Given the description of an element on the screen output the (x, y) to click on. 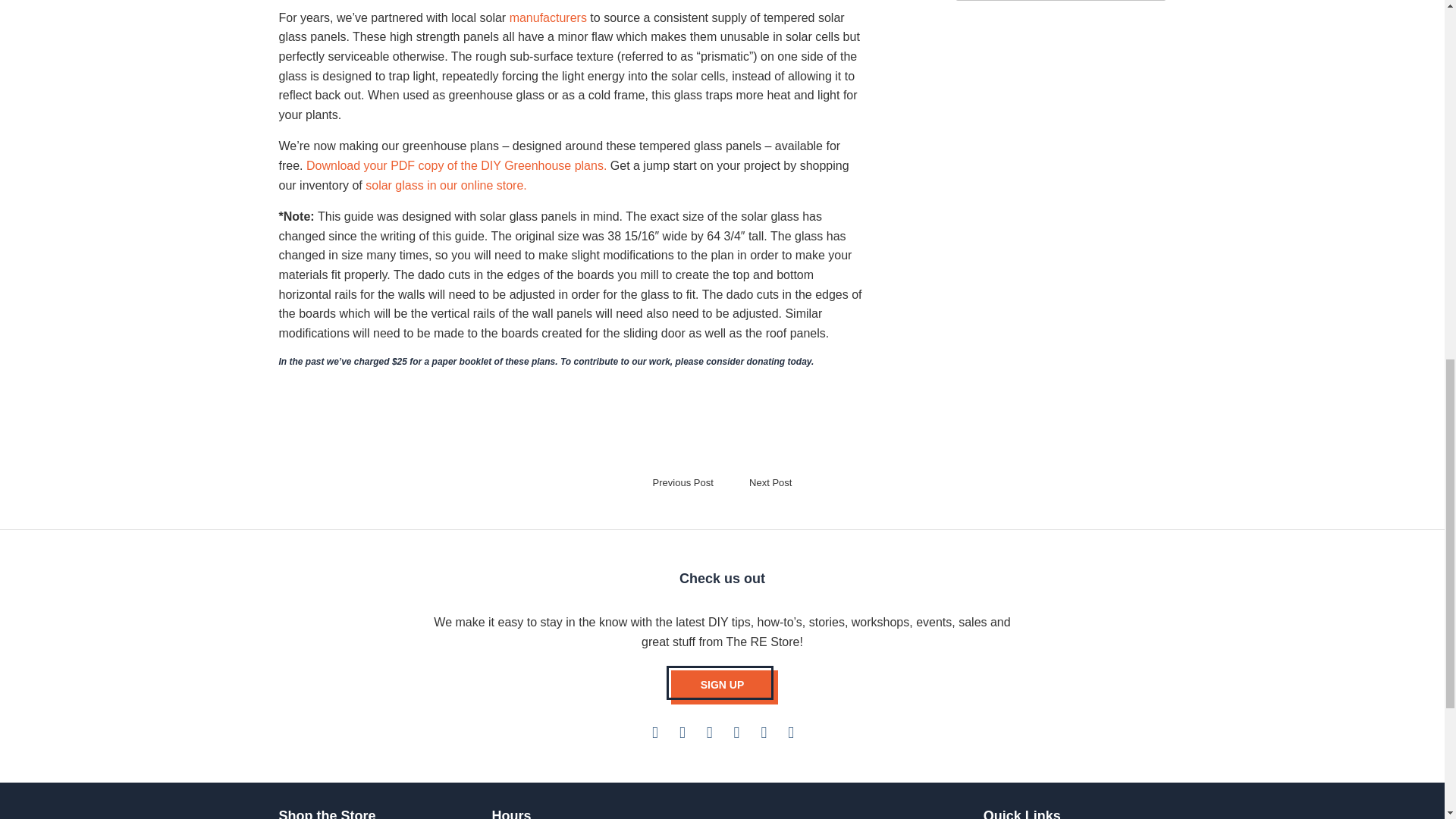
manufacturers (547, 17)
